Given the description of an element on the screen output the (x, y) to click on. 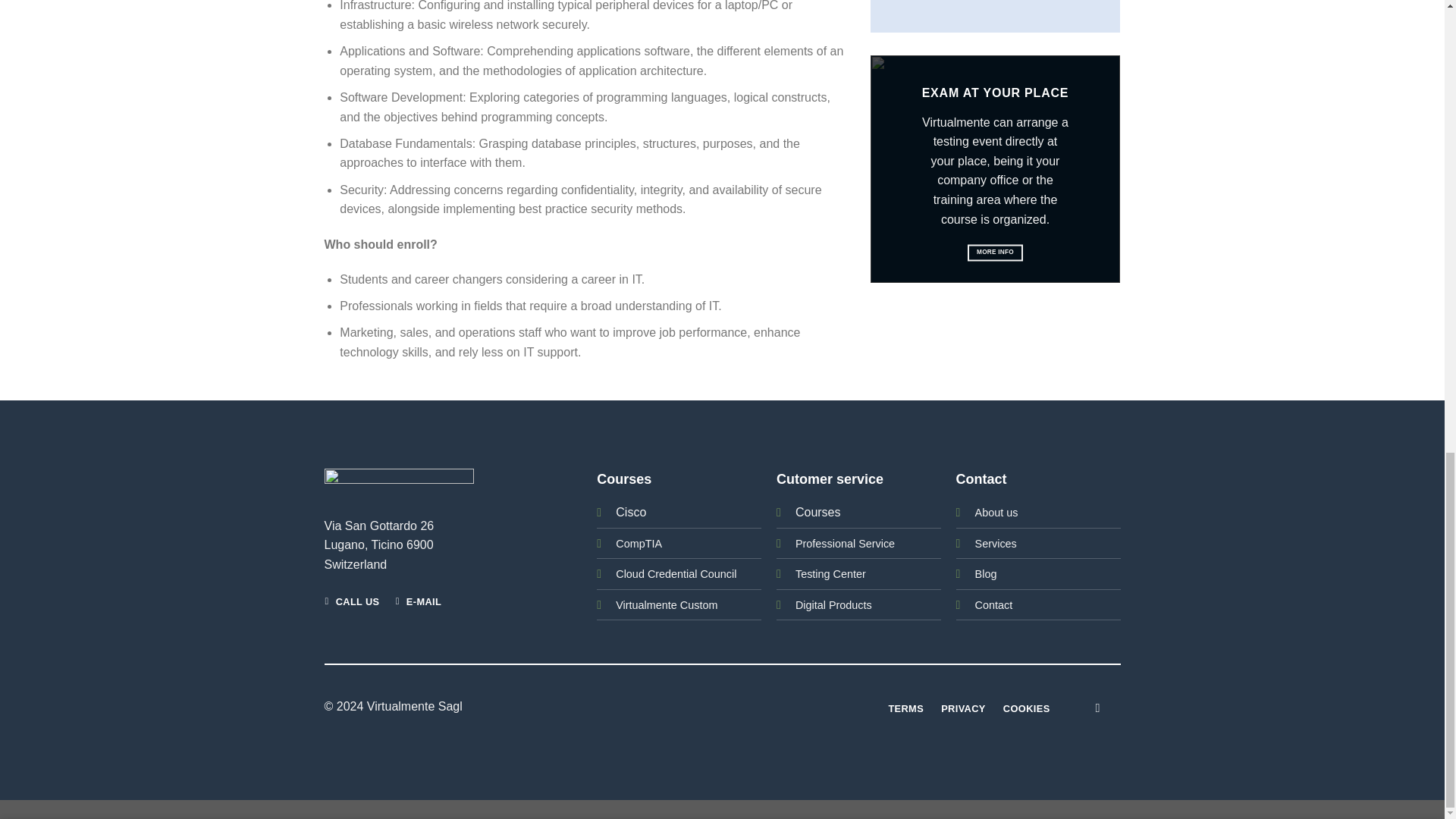
MORE INFO (995, 252)
